Given the description of an element on the screen output the (x, y) to click on. 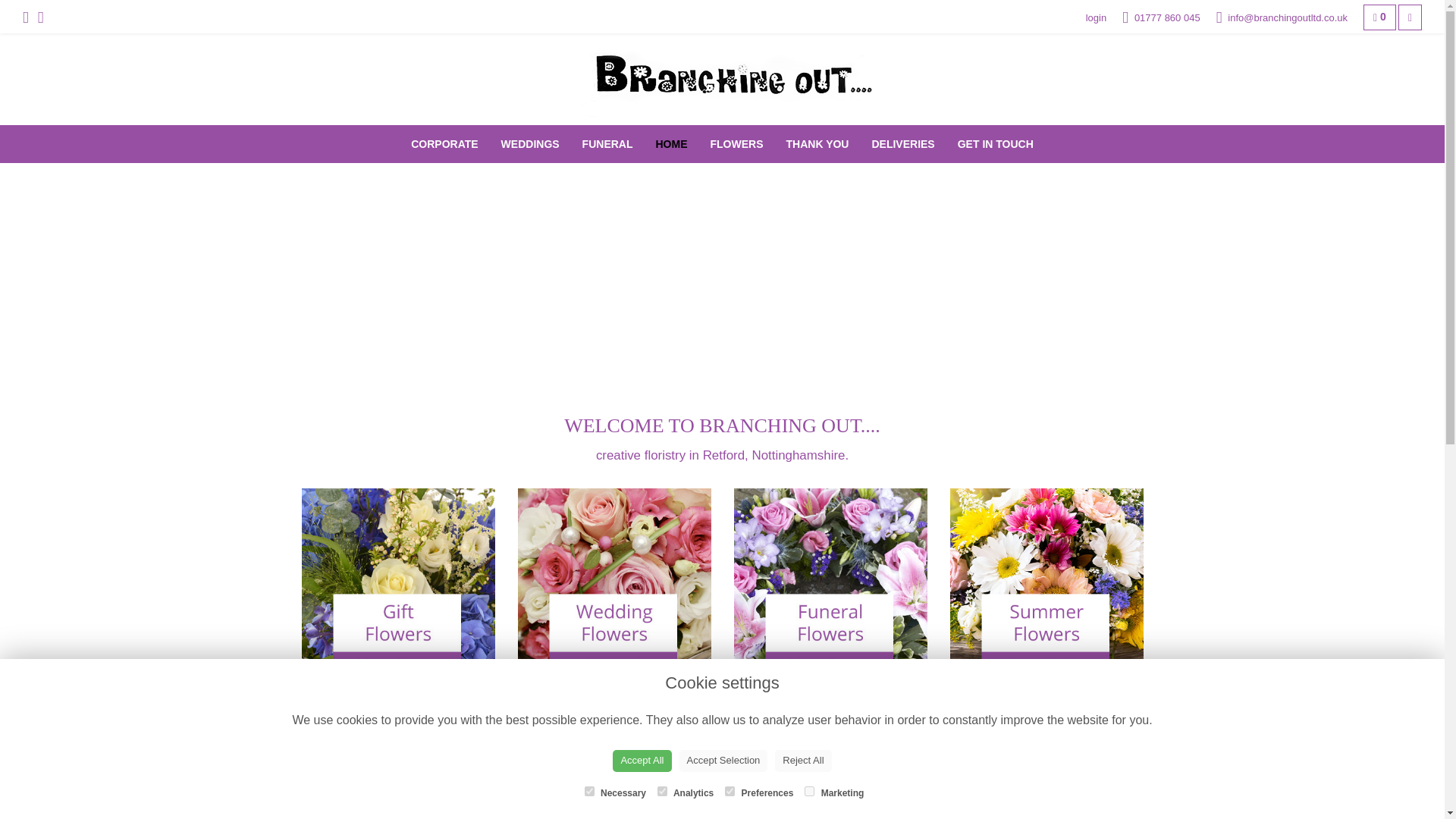
0 (1379, 17)
Deliveries (902, 143)
Preferences (730, 791)
THANK YOU (817, 143)
Corporate (443, 143)
WEDDINGS (529, 143)
FUNERAL (607, 143)
Necessary (589, 791)
GET IN TOUCH (995, 143)
Home (671, 143)
